Given the description of an element on the screen output the (x, y) to click on. 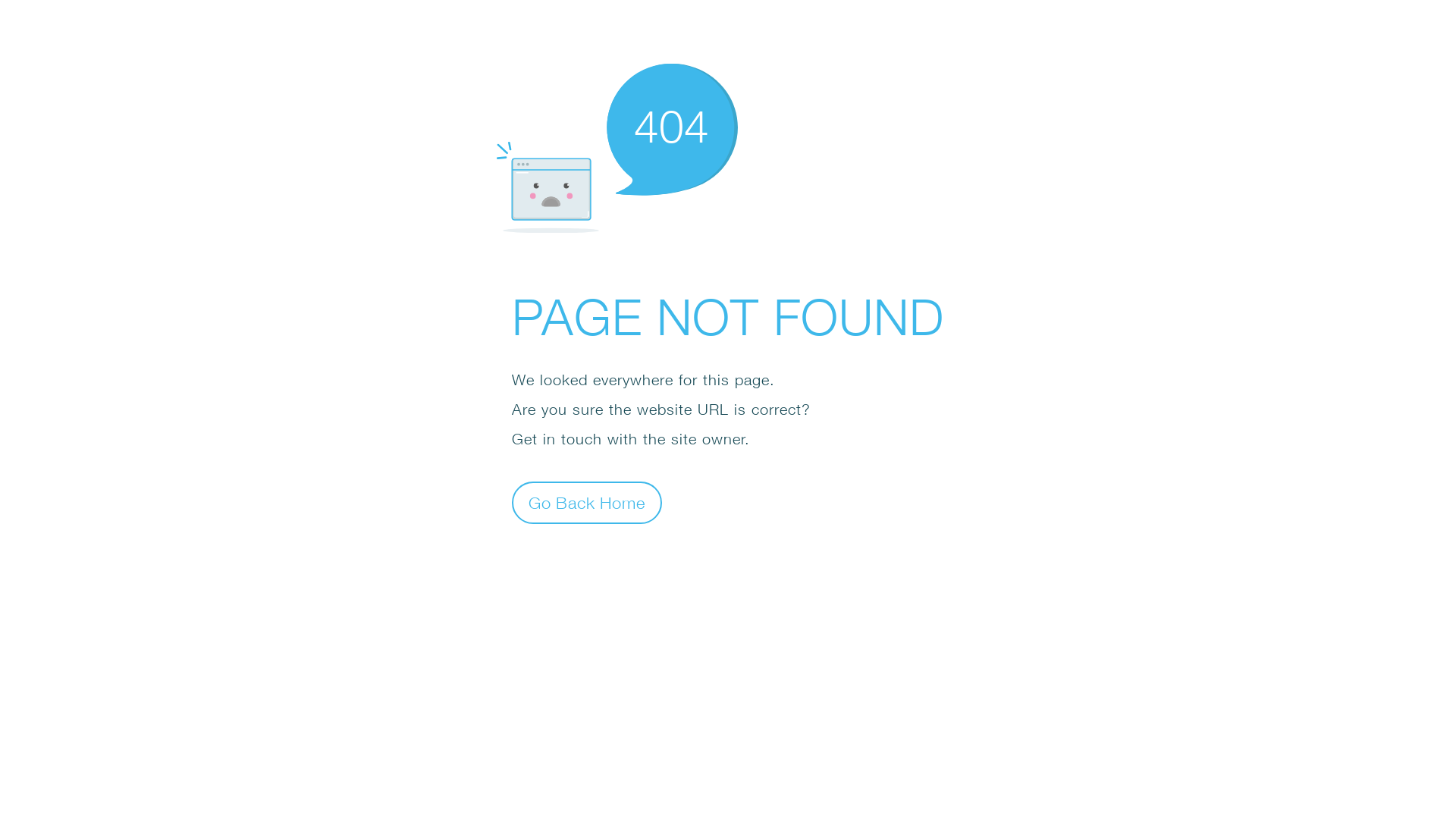
Go Back Home Element type: text (586, 502)
